Given the description of an element on the screen output the (x, y) to click on. 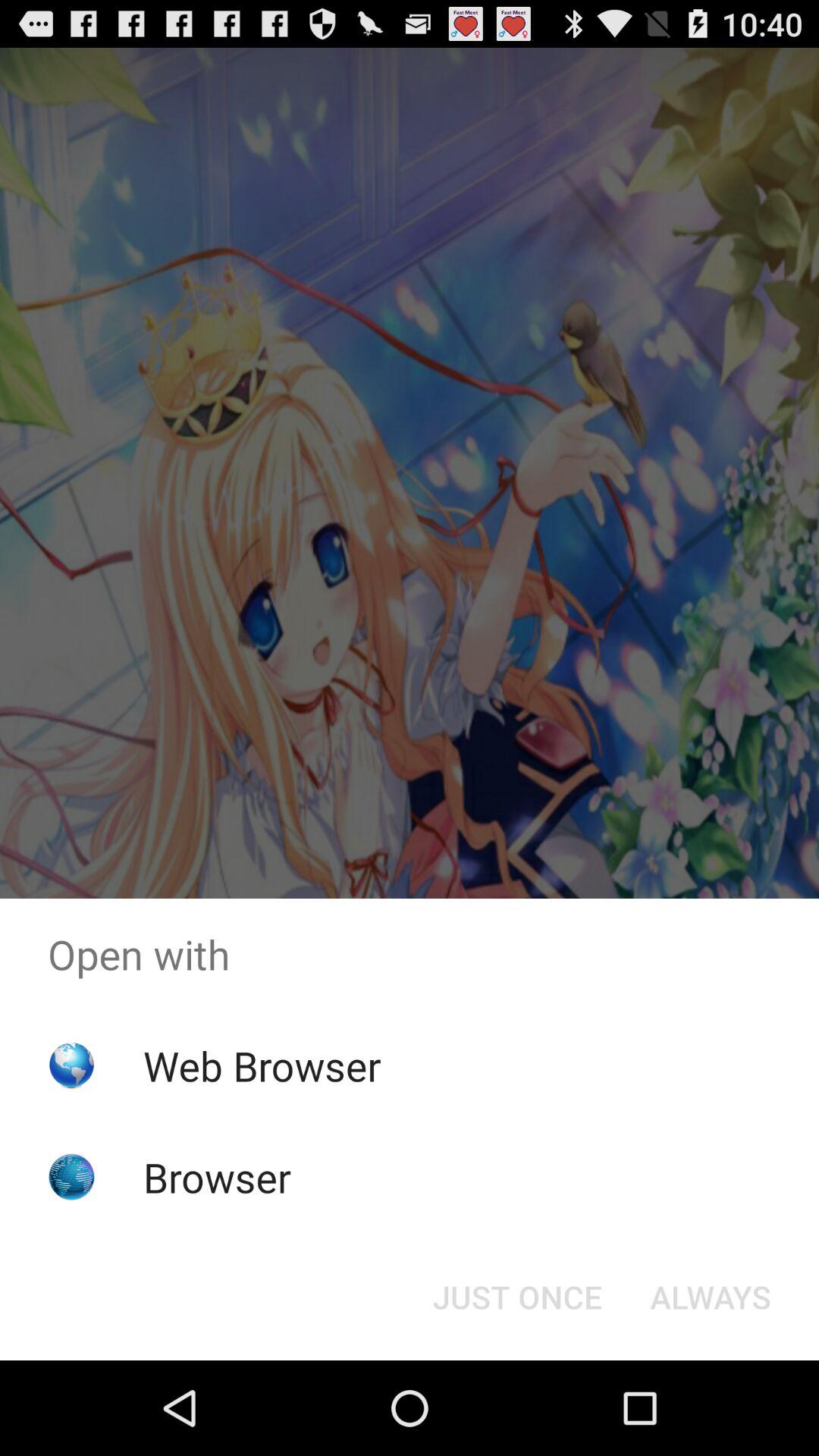
press the icon below the open with app (262, 1065)
